Given the description of an element on the screen output the (x, y) to click on. 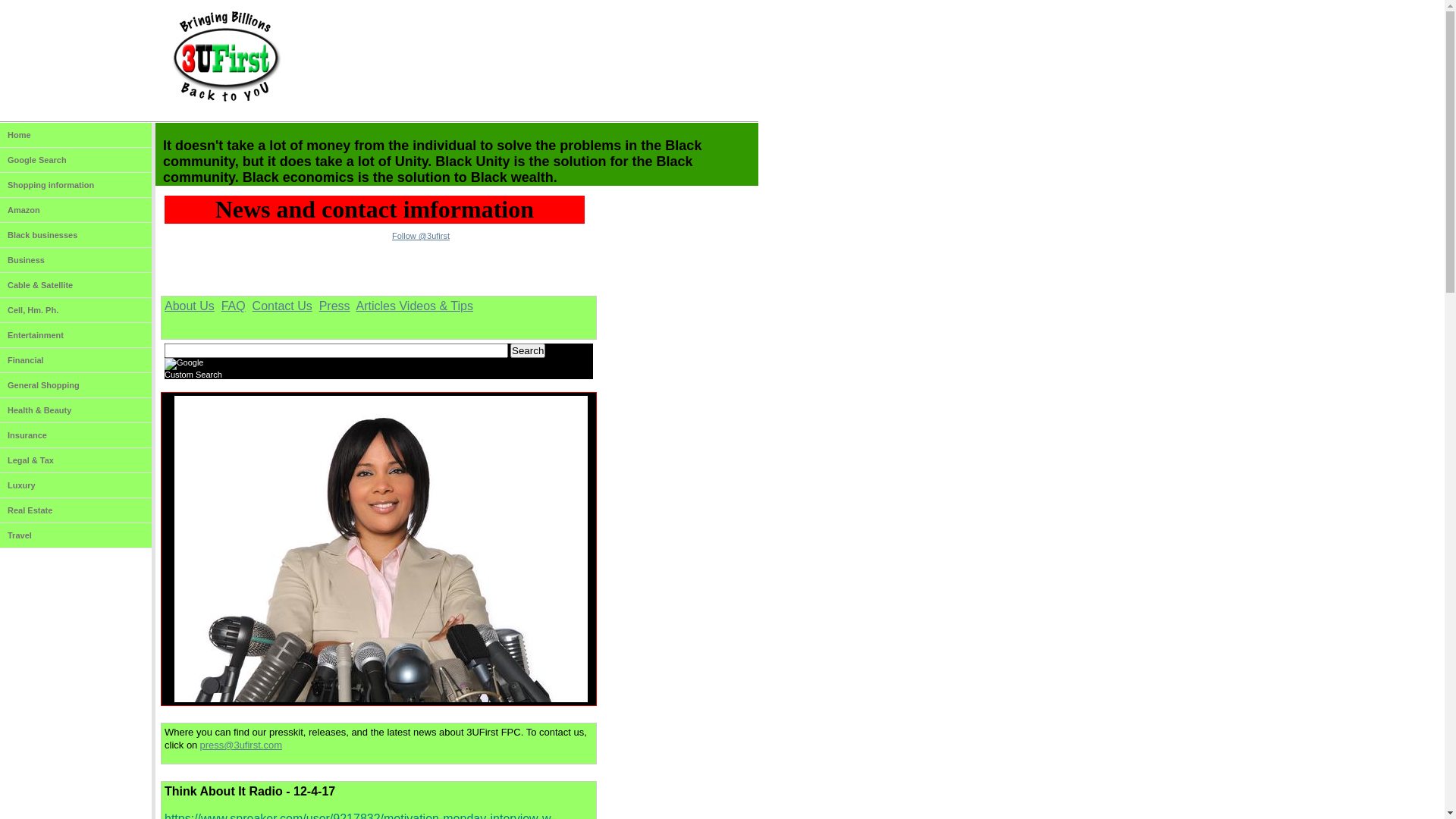
FAQ Element type: text (233, 305)
Google Search Element type: text (75, 159)
Health & Beauty Element type: text (75, 410)
Follow @3ufirst Element type: text (420, 235)
Contact Us Element type: text (282, 305)
General Shopping Element type: text (75, 385)
Entertainment Element type: text (75, 335)
About Us Element type: text (189, 305)
Legal & Tax Element type: text (75, 460)
Travel Element type: text (75, 535)
Articles Videos & Tips Element type: text (414, 305)
Press Element type: text (334, 305)
Financial Element type: text (75, 360)
Cell, Hm. Ph. Element type: text (75, 310)
Search Element type: text (527, 350)
Business Element type: text (75, 260)
Amazon Element type: text (75, 209)
Real Estate Element type: text (75, 510)
press@3ufirst.com Element type: text (240, 744)
Home Element type: text (75, 134)
Insurance Element type: text (75, 435)
Luxury Element type: text (75, 485)
Cable & Satellite Element type: text (75, 285)
Shopping information Element type: text (75, 184)
Black businesses Element type: text (75, 234)
